Given the description of an element on the screen output the (x, y) to click on. 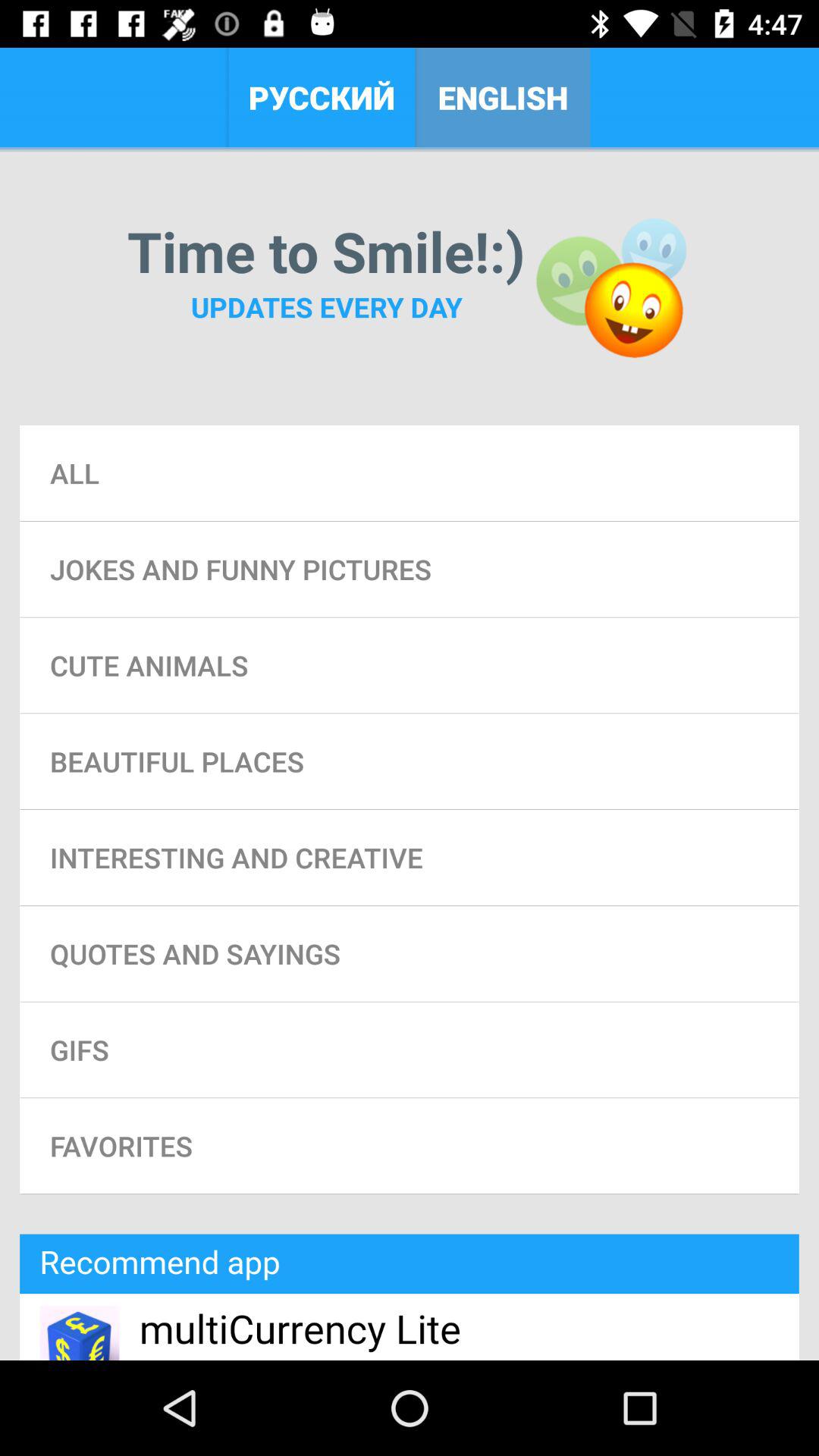
choose icon above cute animals icon (409, 569)
